Given the description of an element on the screen output the (x, y) to click on. 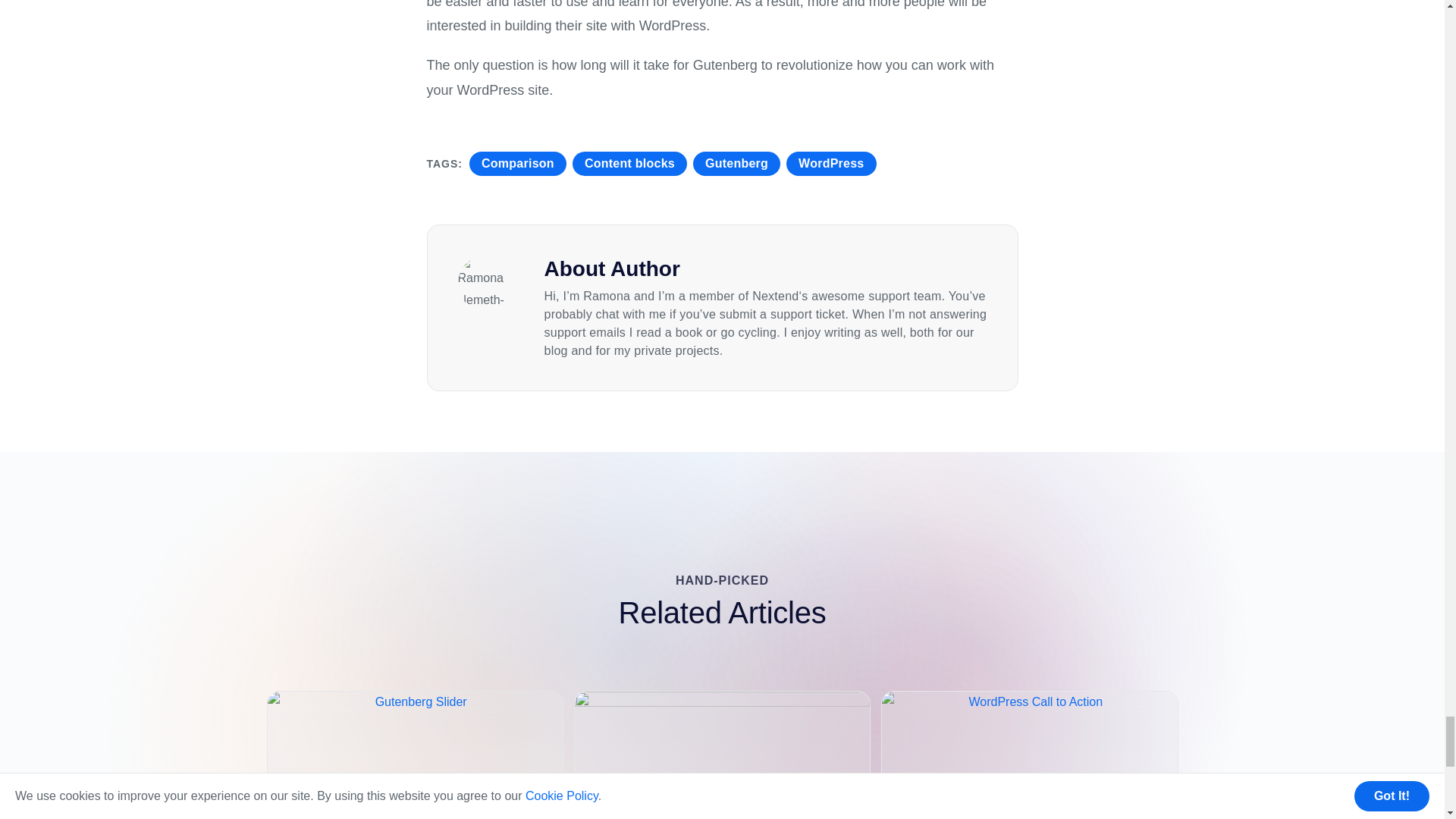
Content blocks (629, 163)
WordPress (831, 163)
Gutenberg (736, 163)
Comparison (517, 163)
